Given the description of an element on the screen output the (x, y) to click on. 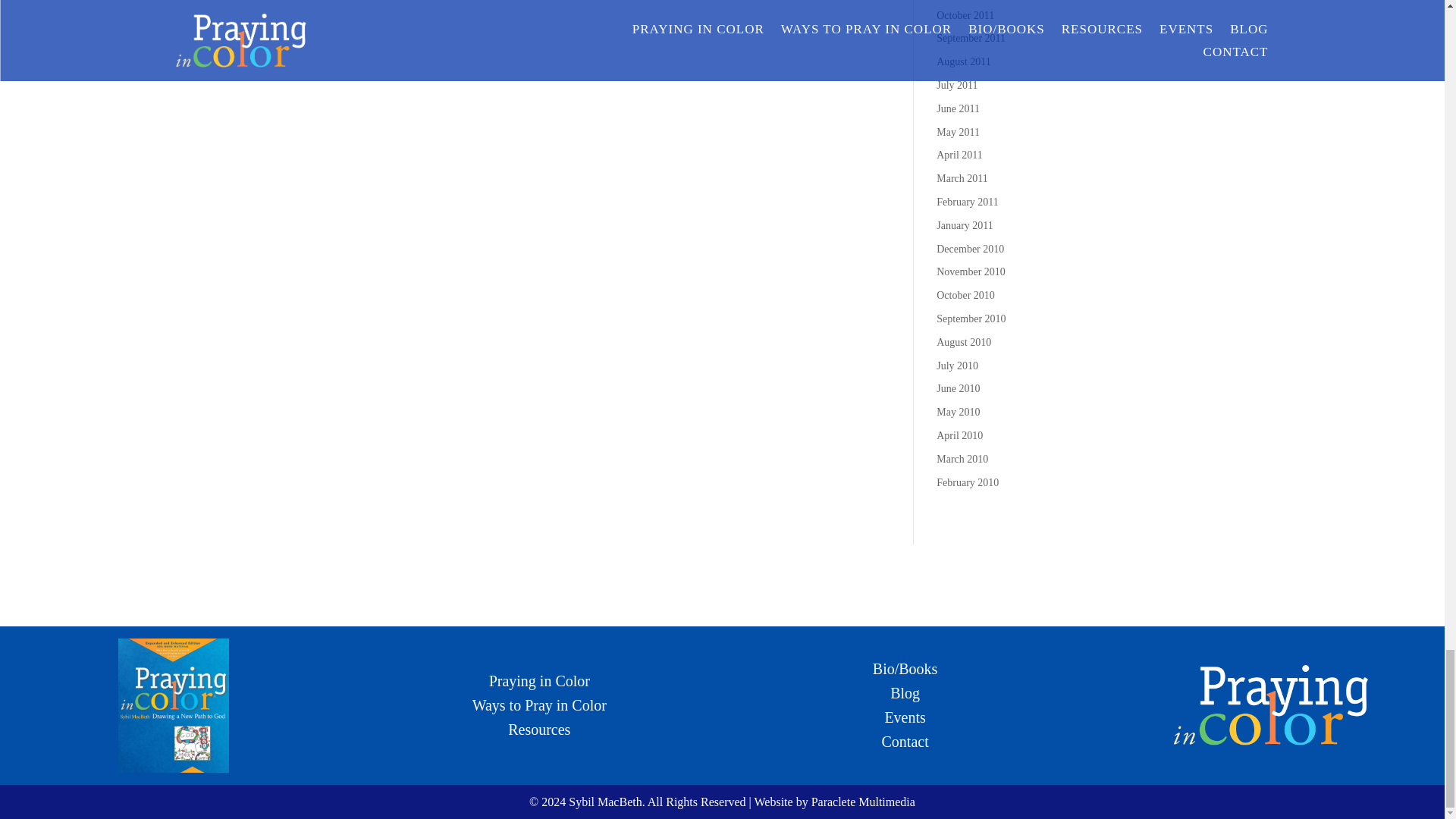
logo-praying-in-color-02 (1270, 705)
